Given the description of an element on the screen output the (x, y) to click on. 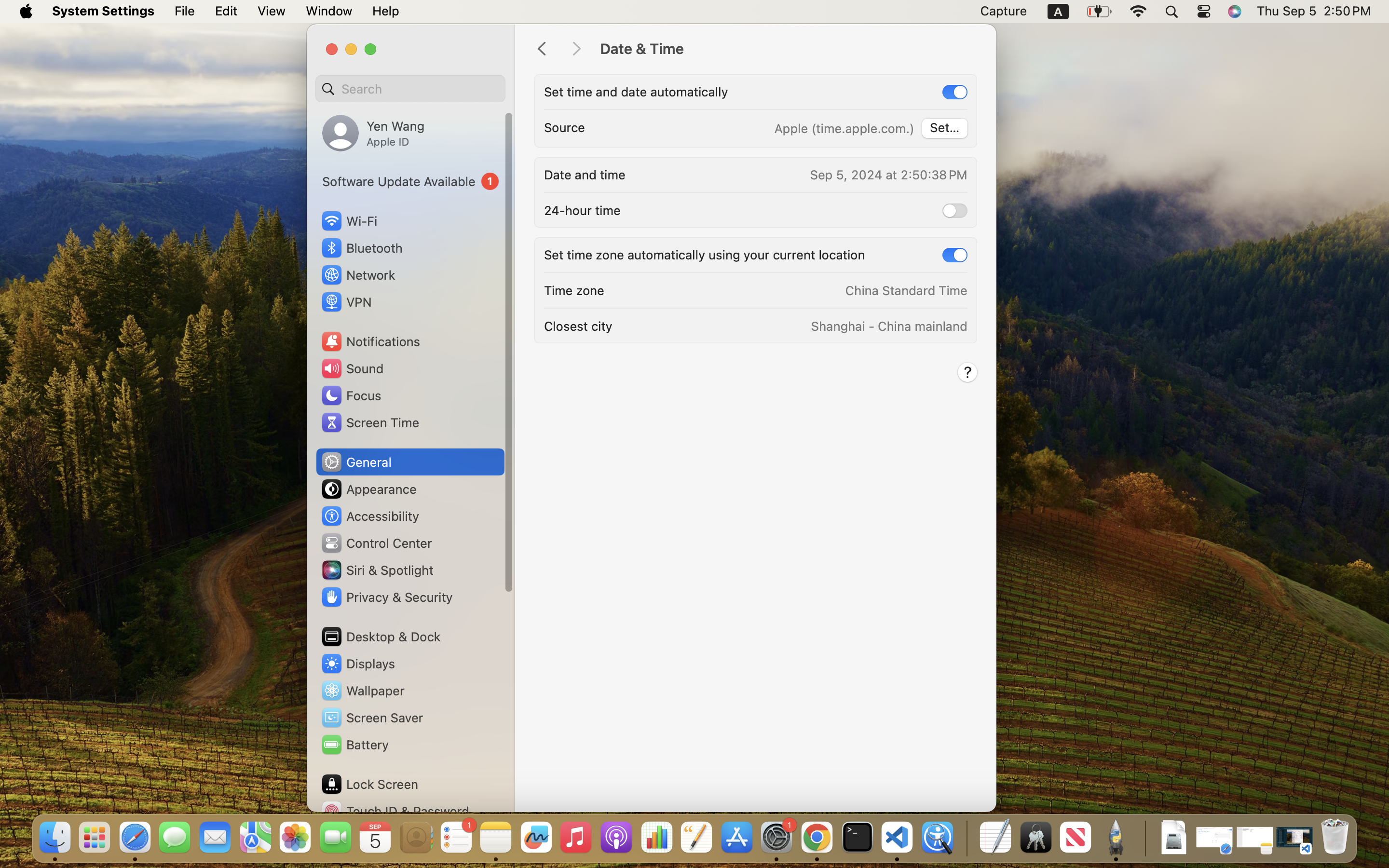
24-hour time Element type: AXStaticText (582, 209)
Date & Time Element type: AXStaticText (788, 49)
Touch ID & Password Element type: AXStaticText (394, 810)
Desktop & Dock Element type: AXStaticText (380, 636)
Focus Element type: AXStaticText (350, 394)
